Given the description of an element on the screen output the (x, y) to click on. 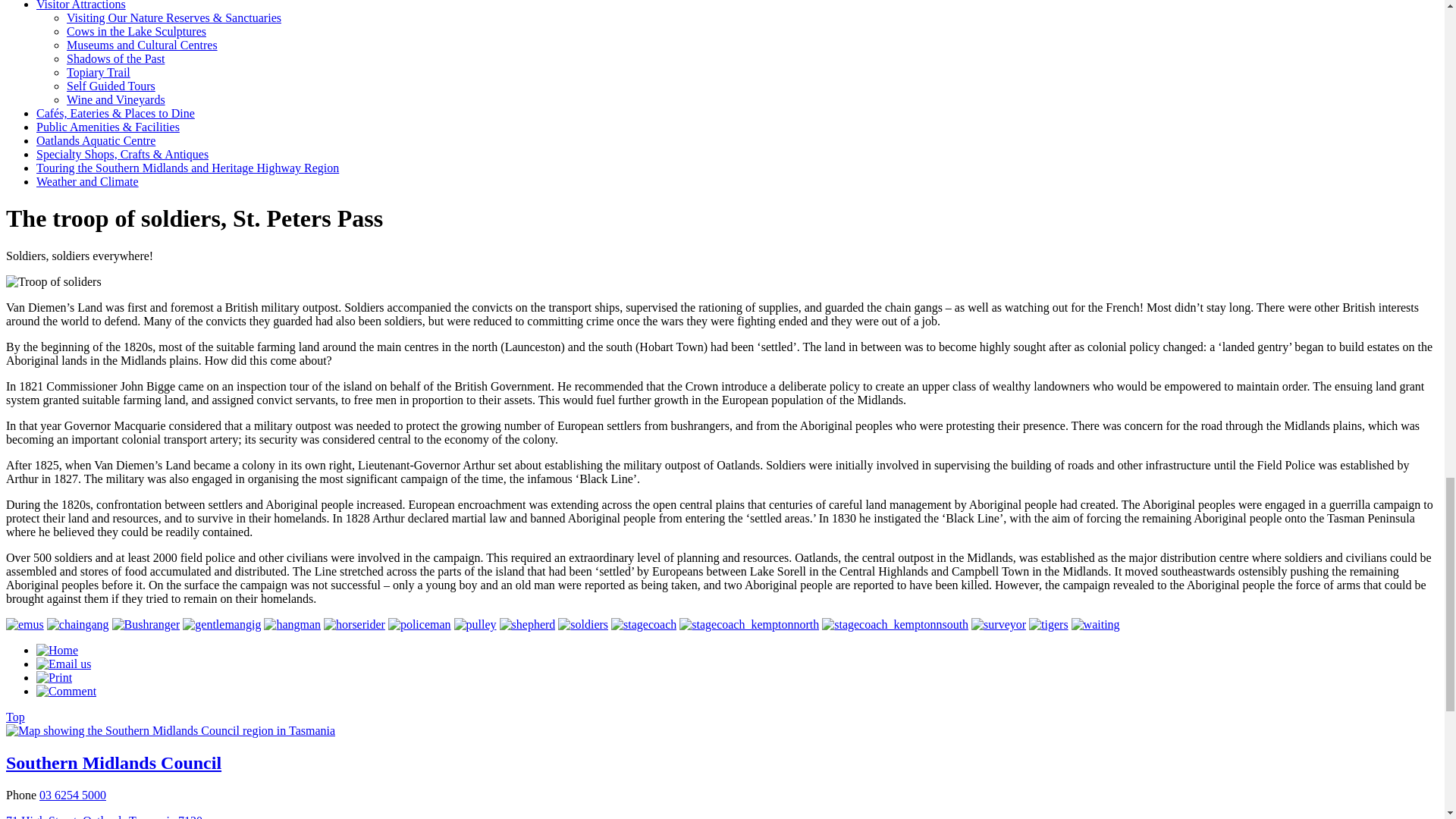
Print this page (53, 676)
Visit the Southern Midlands Council home page (57, 649)
Send us your comments (66, 690)
Contact details for the Southern Midlands Council (63, 663)
